Given the description of an element on the screen output the (x, y) to click on. 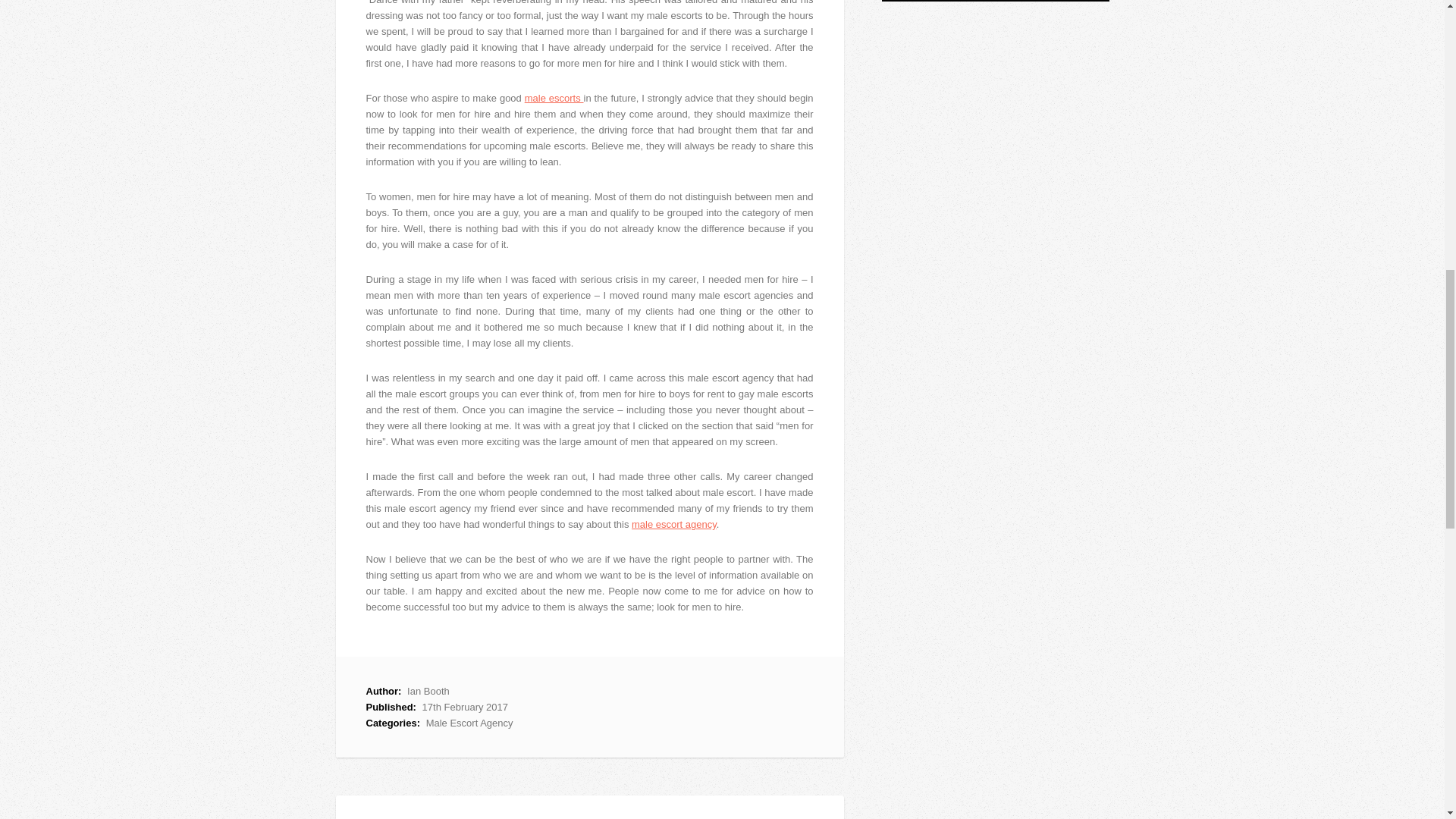
male escorts (553, 98)
male escort agency (673, 523)
Ian Booth (428, 690)
Posts by Ian Booth (428, 690)
Male Escort Agency (469, 722)
